Given the description of an element on the screen output the (x, y) to click on. 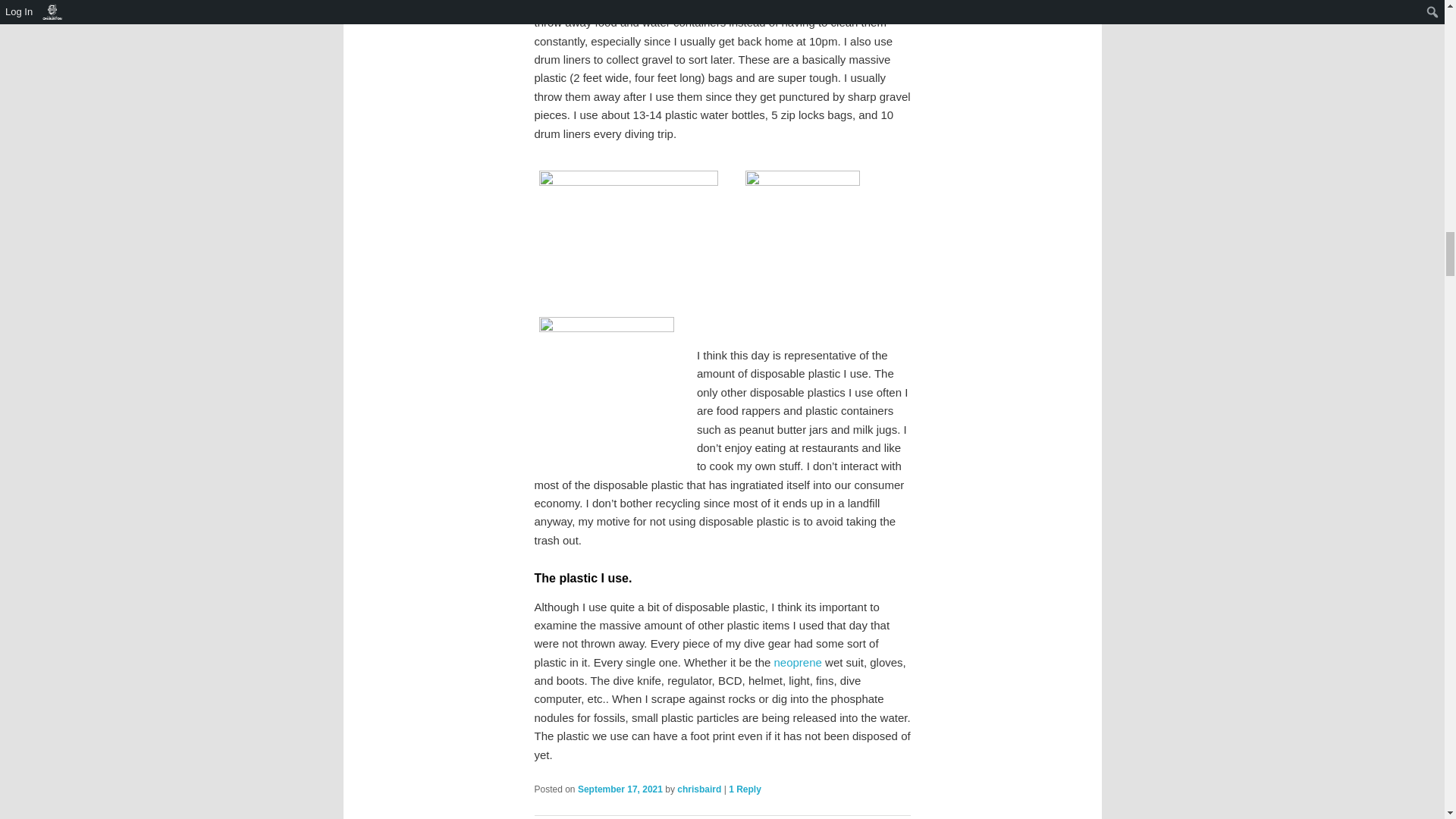
1 Reply (745, 788)
neoprene (797, 662)
chrisbaird (698, 788)
View all posts by chrisbaird (698, 788)
9:38 pm (620, 788)
September 17, 2021 (620, 788)
